Given the description of an element on the screen output the (x, y) to click on. 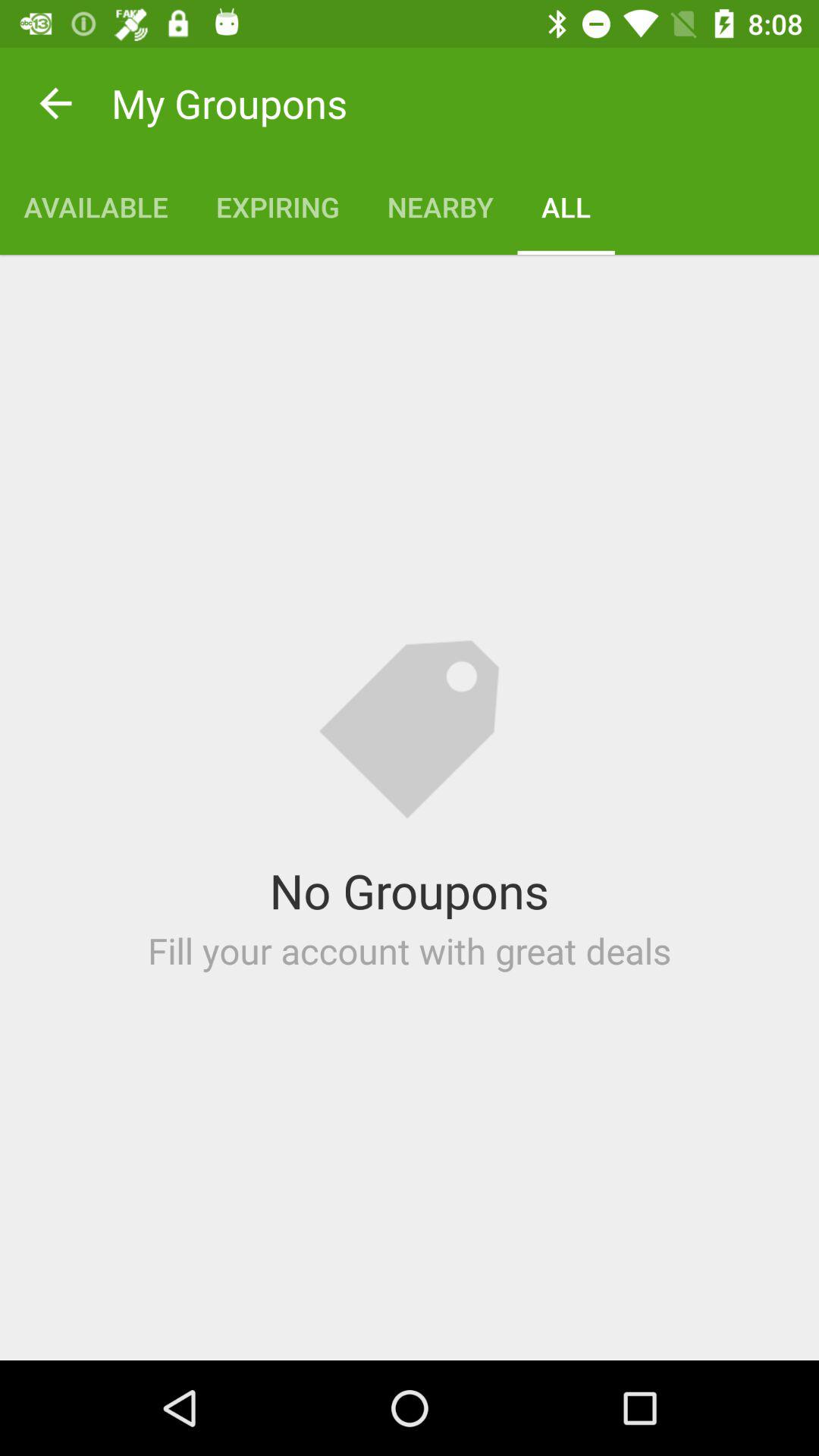
turn off the icon below my groupons item (96, 206)
